Given the description of an element on the screen output the (x, y) to click on. 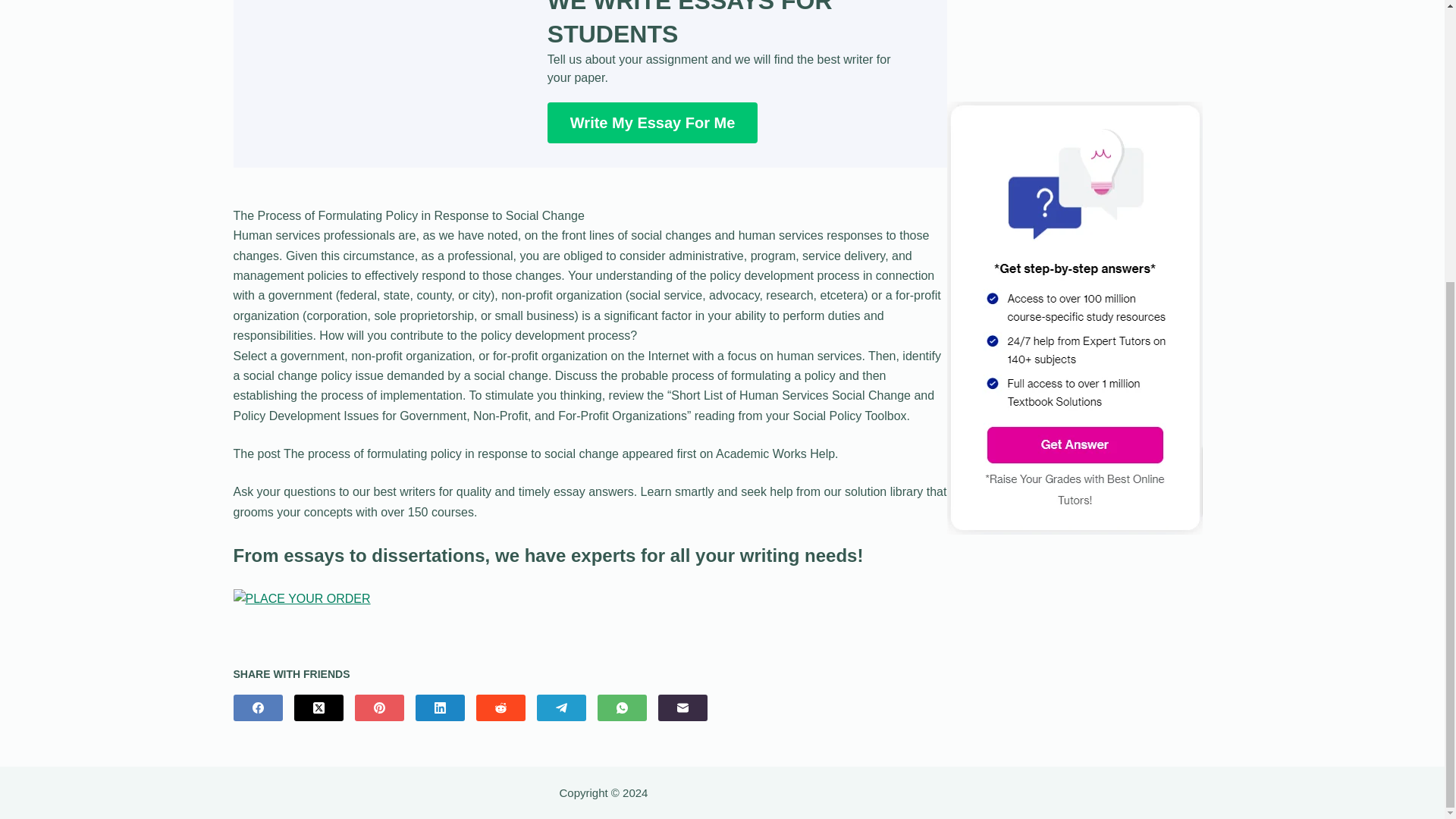
Write My Essay For Me (652, 122)
